Given the description of an element on the screen output the (x, y) to click on. 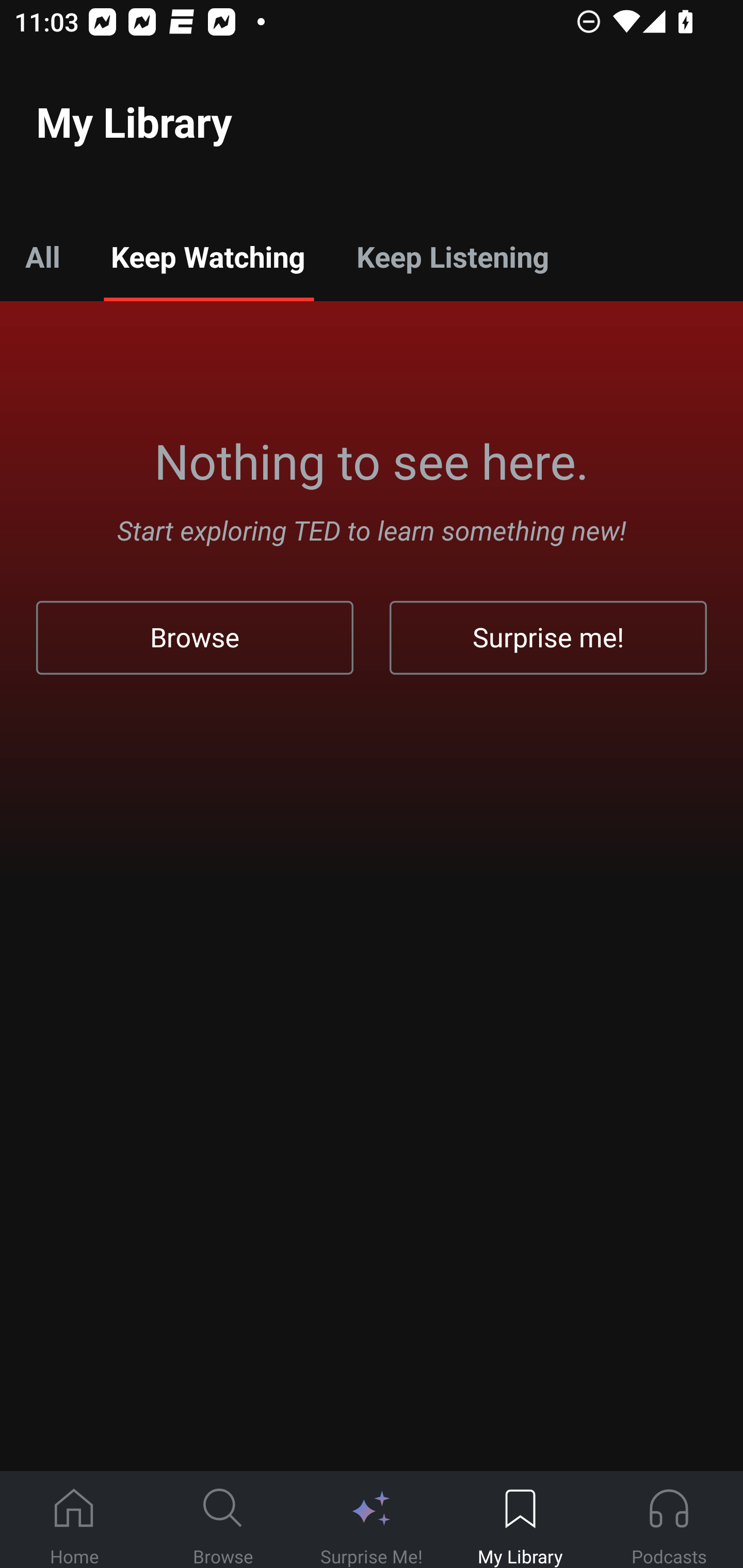
All (42, 256)
Keep Watching (207, 256)
Keep Listening (452, 256)
Browse (194, 637)
Surprise me! (547, 637)
Home (74, 1520)
Browse (222, 1520)
Surprise Me! (371, 1520)
My Library (519, 1520)
Podcasts (668, 1520)
